Given the description of an element on the screen output the (x, y) to click on. 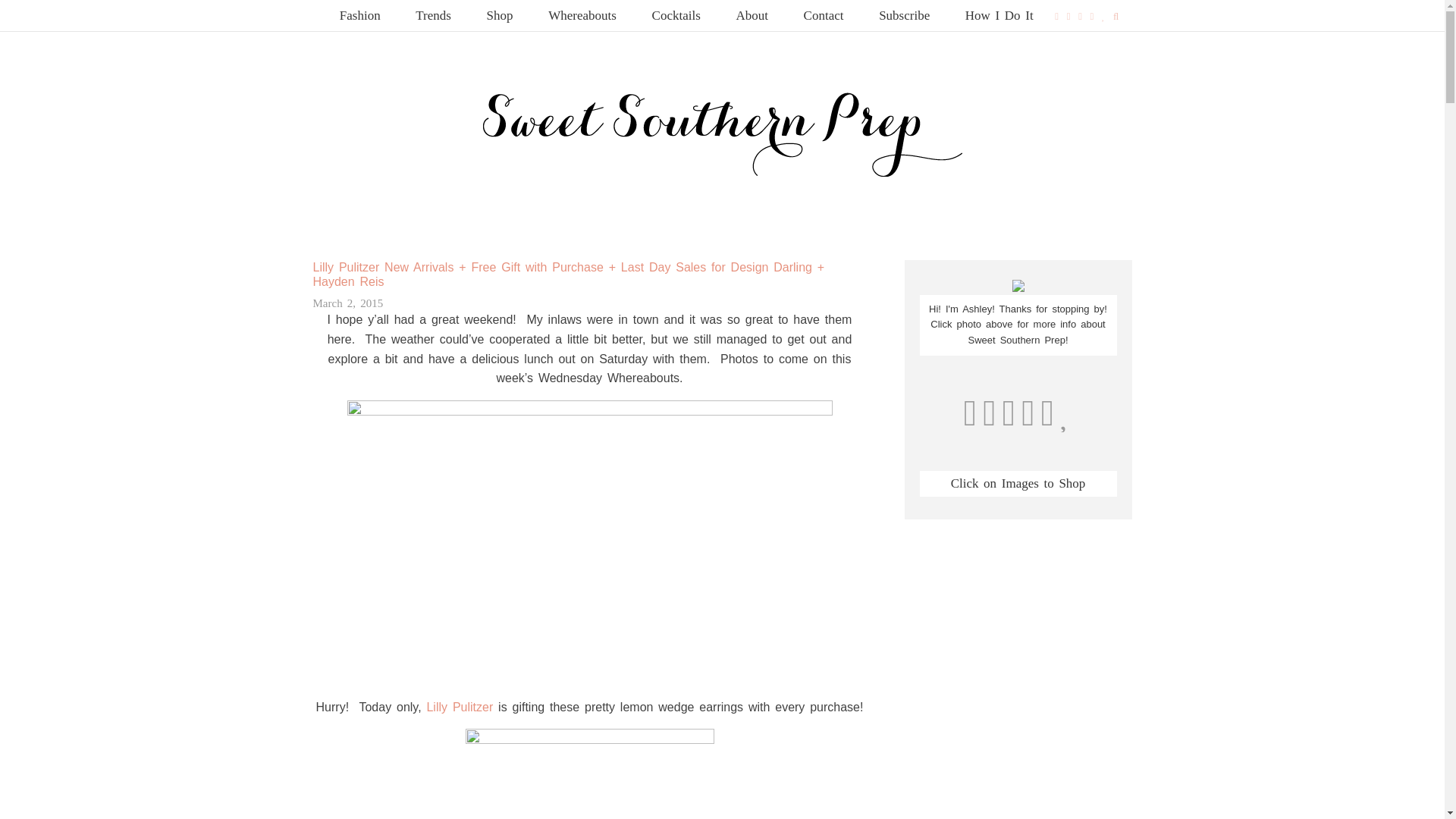
Whereabouts (581, 15)
Cocktails (676, 15)
Lilly Pulitzer (457, 707)
About (751, 15)
Fashion (360, 15)
Shop (499, 15)
Contact (824, 15)
Subscribe (903, 15)
Trends (432, 15)
How I Do It (999, 15)
